Given the description of an element on the screen output the (x, y) to click on. 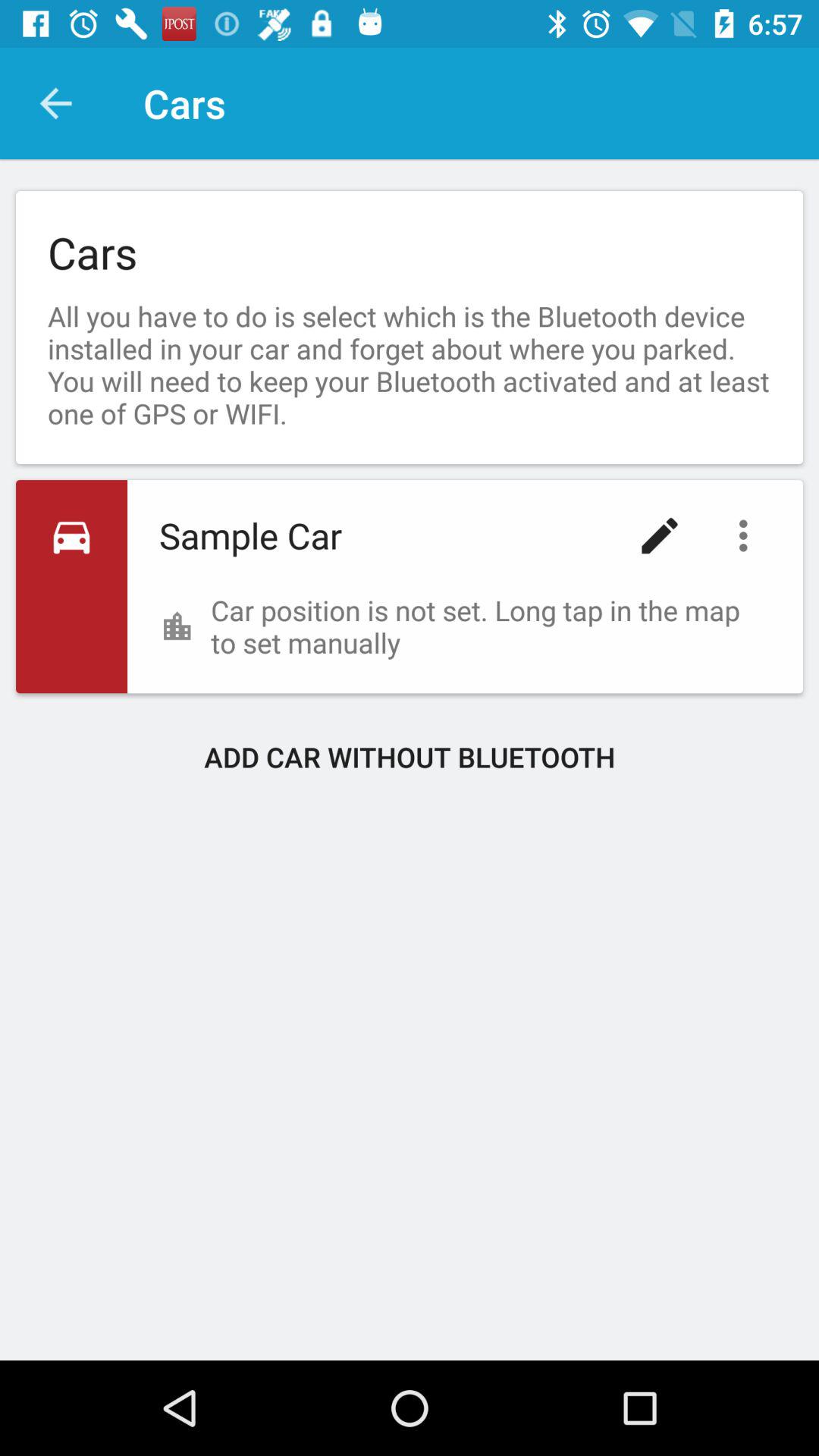
tap item to the right of sample car item (659, 535)
